Given the description of an element on the screen output the (x, y) to click on. 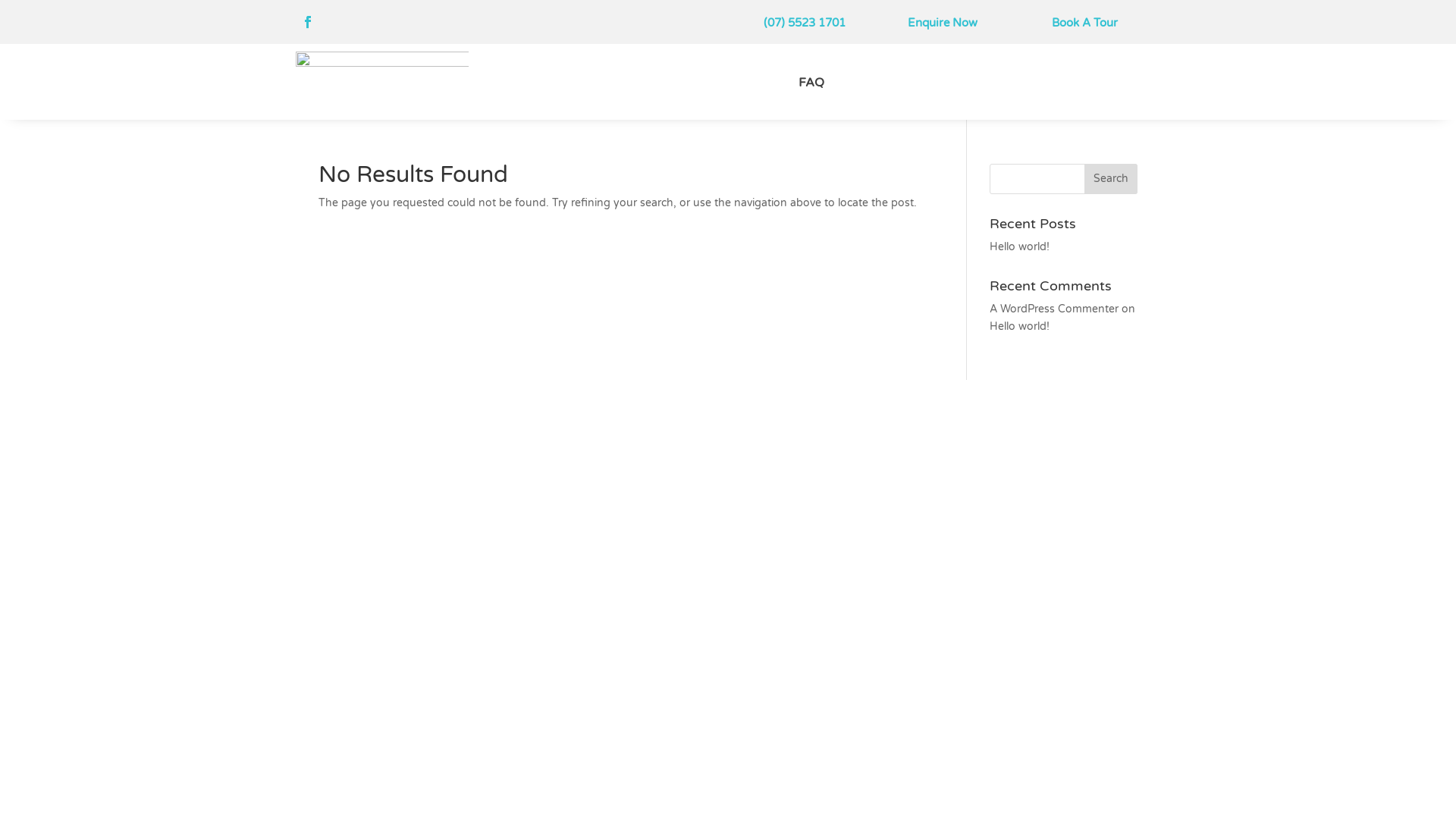
FAQ Element type: text (817, 85)
Hello world! Element type: text (1019, 246)
Hello world! Element type: text (1019, 326)
A WordPress Commenter Element type: text (1053, 308)
Search Element type: text (1110, 178)
Follow on Facebook Element type: hover (307, 21)
lg-logo_v1-o8sw8dzm7zxh994a6jcw1t32alevcwmfuo4e4g72ju Element type: hover (381, 81)
